Given the description of an element on the screen output the (x, y) to click on. 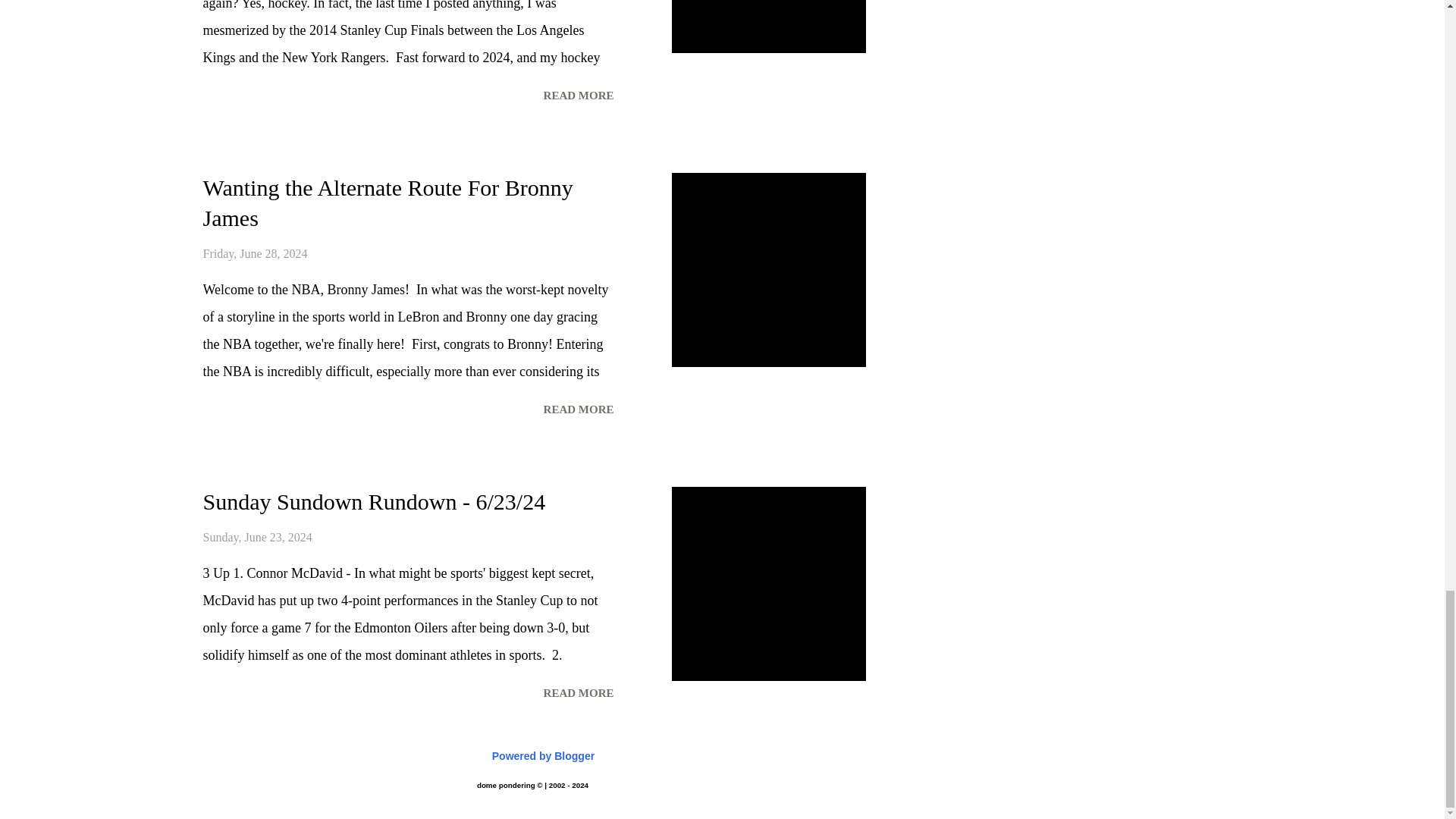
READ MORE (578, 409)
permanent link (258, 536)
READ MORE (578, 95)
permanent link (255, 253)
Wanting the Alternate Route For Bronny James  (578, 409)
Friday, June 28, 2024 (255, 253)
2024 Stanley Cup Playoffs Keeps Me Casual on Hockey (578, 95)
READ MORE (578, 692)
Sunday, June 23, 2024 (258, 536)
Wanting the Alternate Route For Bronny James (388, 202)
